Given the description of an element on the screen output the (x, y) to click on. 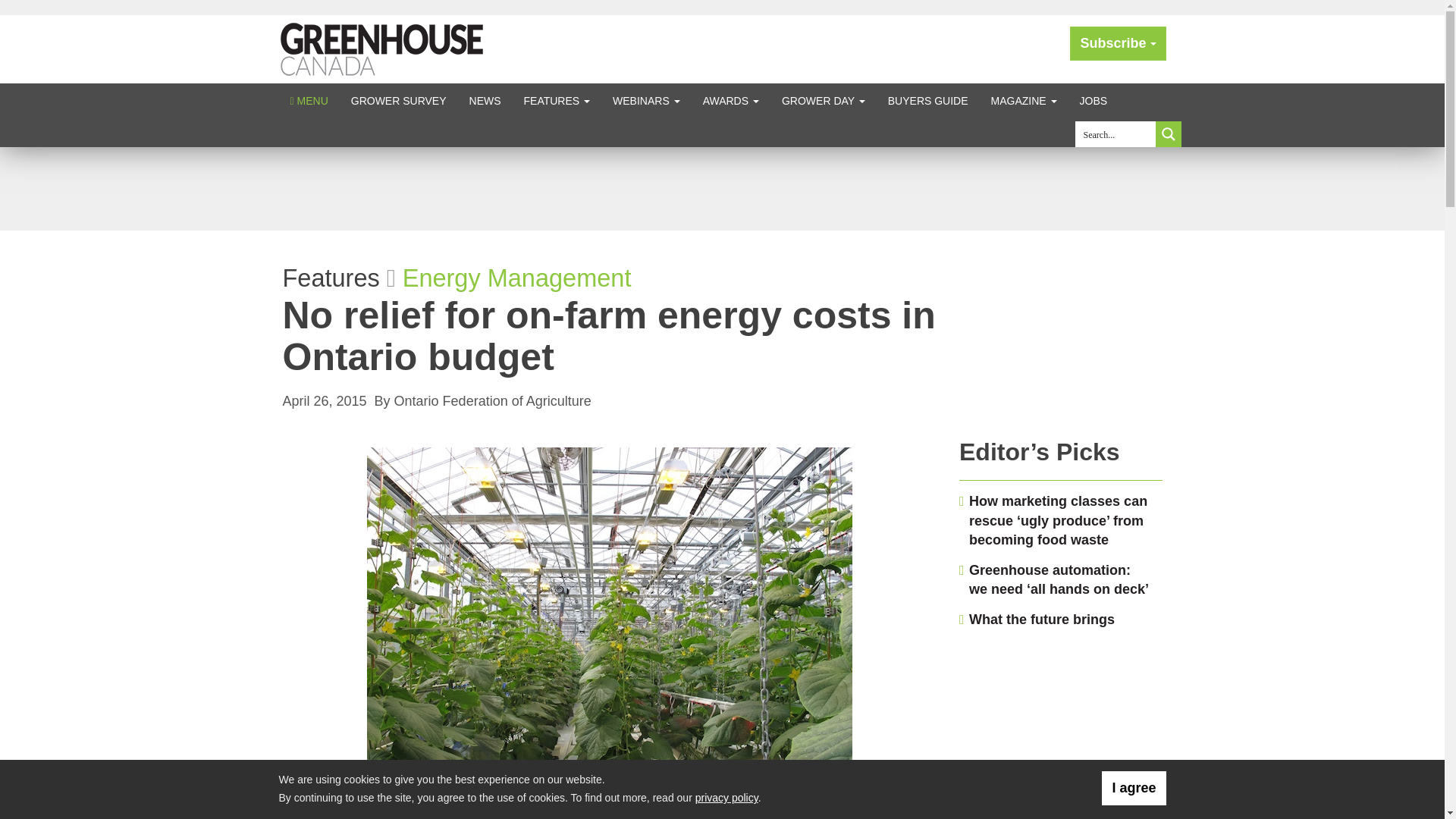
FEATURES (557, 100)
JOBS (1093, 100)
GROWER SURVEY (398, 100)
AWARDS (730, 100)
NEWS (485, 100)
Subscribe (1118, 43)
3rd party ad content (721, 188)
MAGAZINE (1023, 100)
Click to show site navigation (309, 100)
BUYERS GUIDE (927, 100)
